Given the description of an element on the screen output the (x, y) to click on. 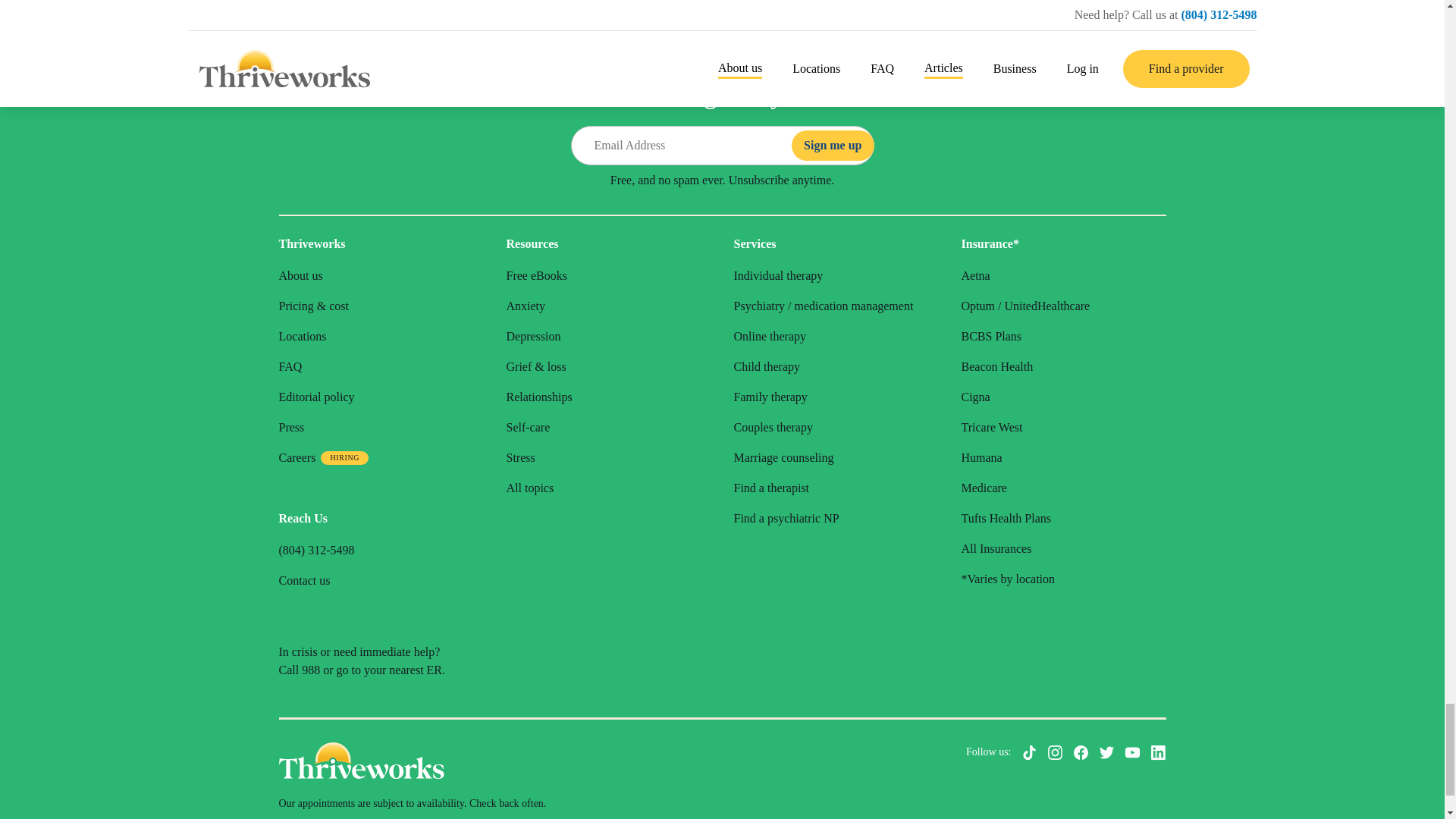
Sign me up (832, 145)
